Given the description of an element on the screen output the (x, y) to click on. 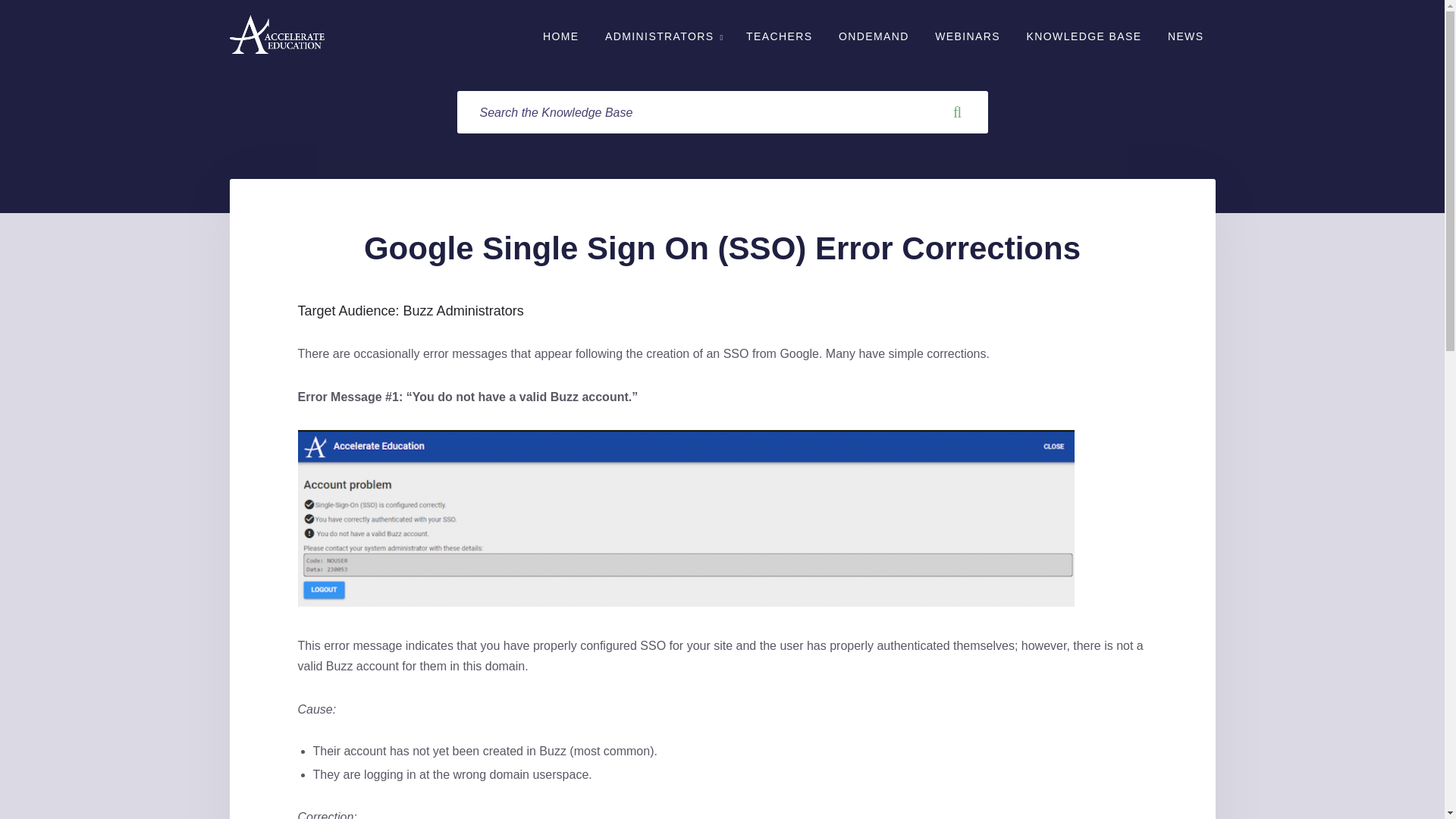
HOME (560, 35)
Submit search (957, 112)
KNOWLEDGE BASE (1083, 35)
ONDEMAND (873, 35)
WEBINARS (967, 35)
NEWS (1185, 35)
TEACHERS (779, 35)
ADMINISTRATORS (662, 35)
